Given the description of an element on the screen output the (x, y) to click on. 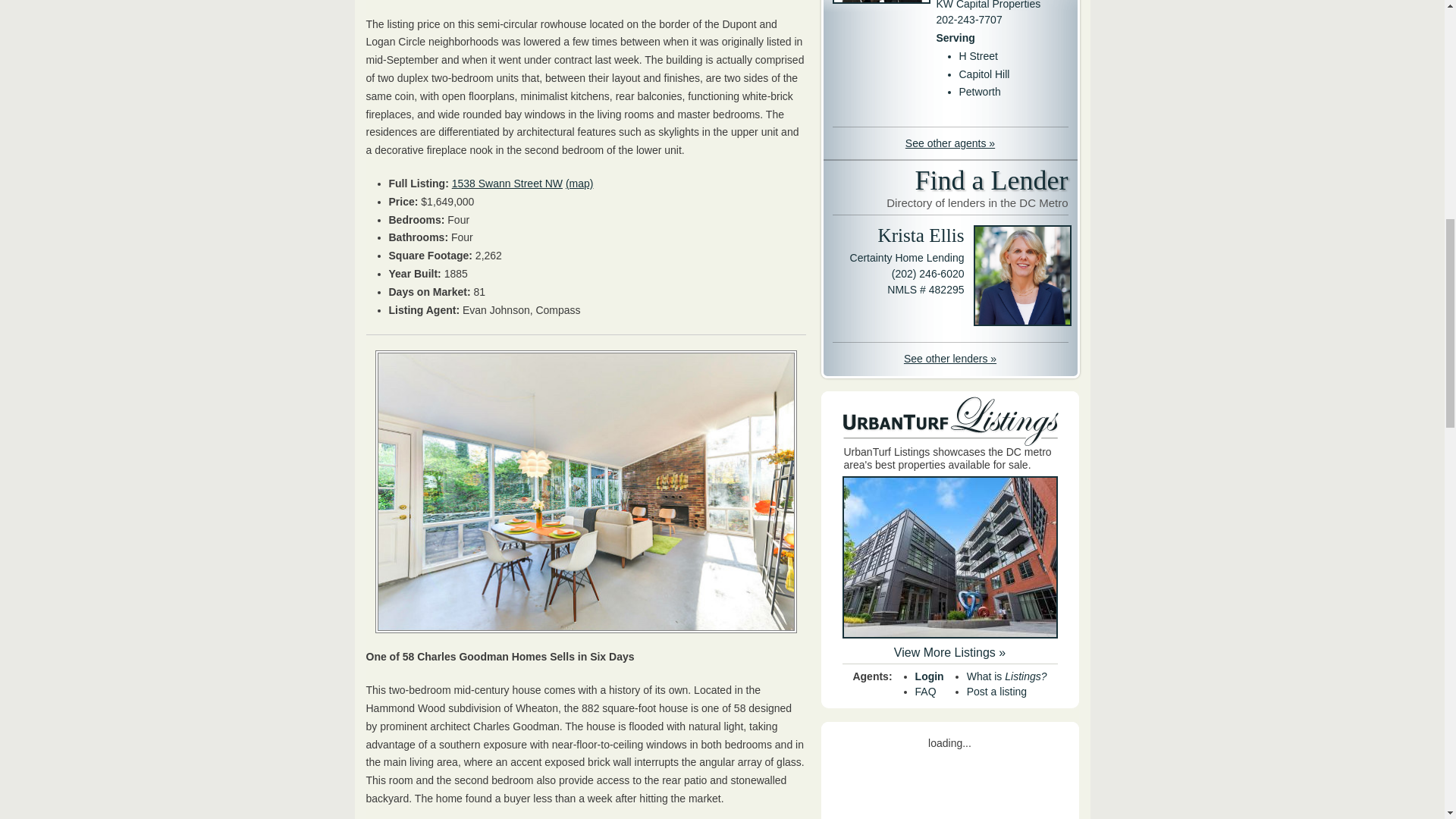
What is Listings? (1006, 676)
Login (950, 189)
Post a listing (929, 676)
1538 Swann Street NW (996, 691)
FAQ (506, 183)
1538 Swann Street NW (925, 691)
